Given the description of an element on the screen output the (x, y) to click on. 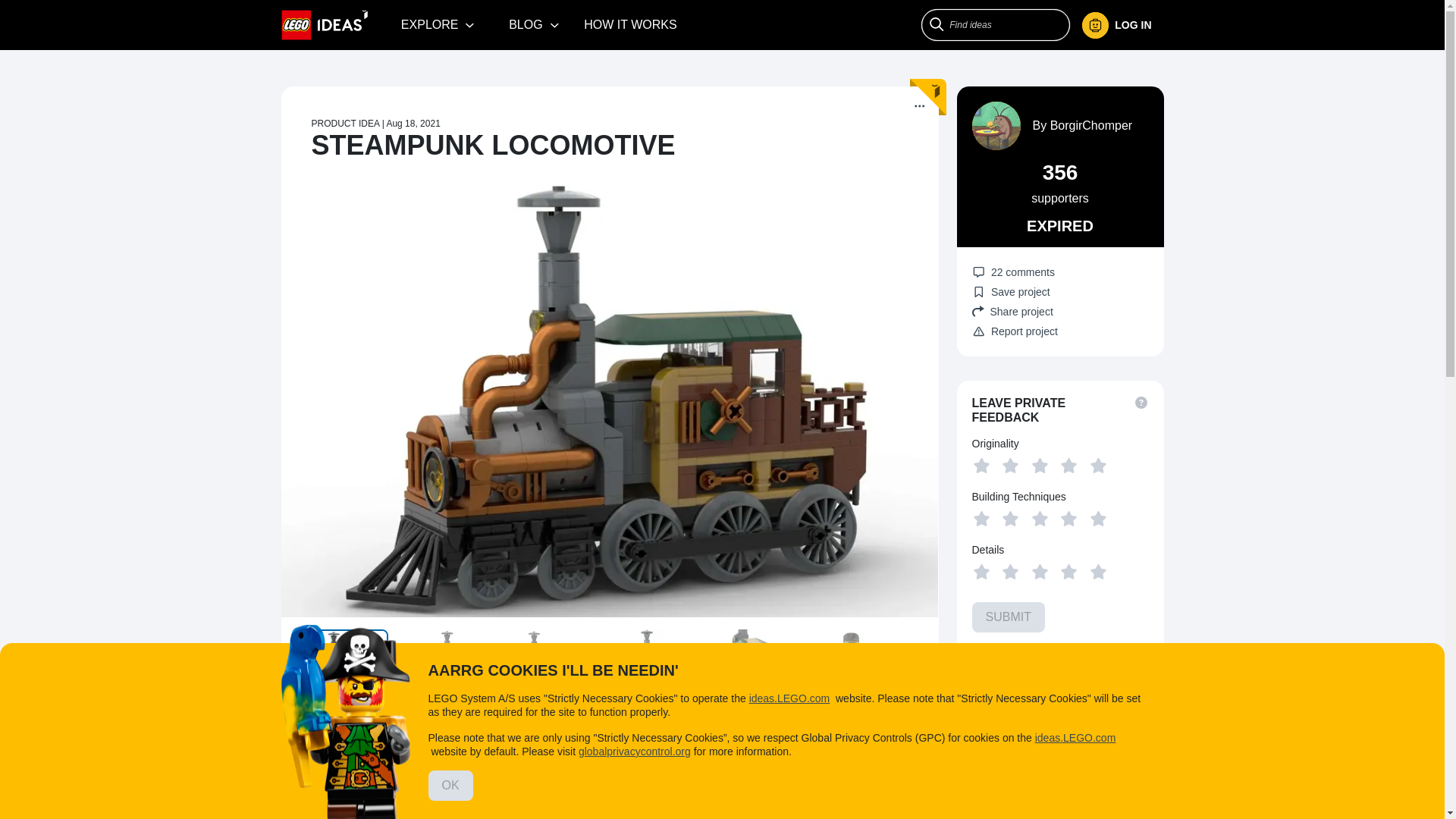
HOW IT WORKS (630, 24)
2021-08-18T05:59:55.989154Z (412, 122)
EXPLORE (437, 24)
Share project (1060, 311)
Me (1116, 25)
LOG IN (1122, 25)
DESCRIPTION (331, 732)
BorgirChomper (1090, 124)
Save project (1010, 291)
How It Works (630, 24)
UPDATES 0 (422, 731)
STATISTICS (792, 731)
BLOG (534, 24)
OFFICIAL LEGO COMMENTS 2 (661, 731)
